Given the description of an element on the screen output the (x, y) to click on. 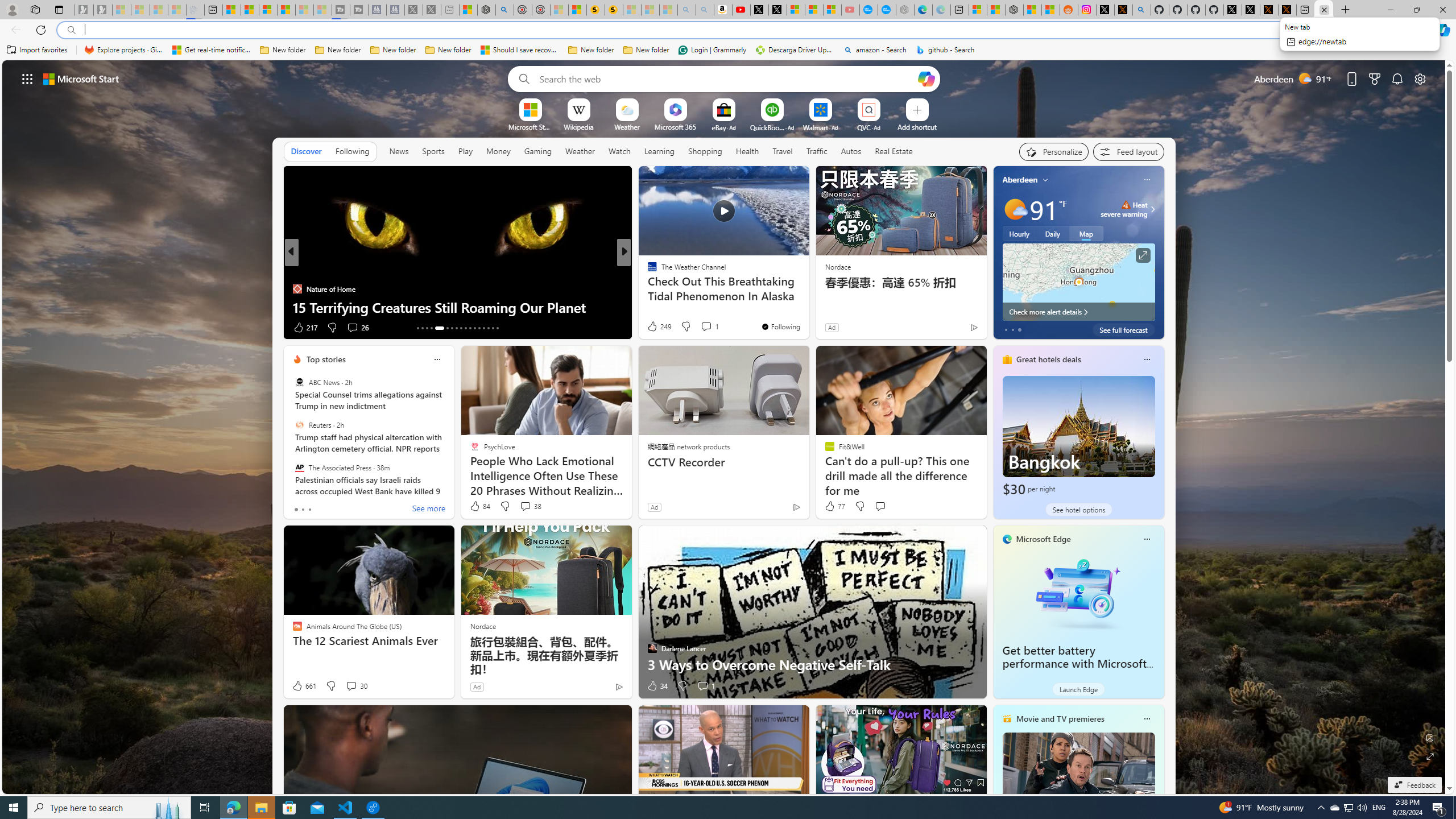
View comments 1 Comment (703, 685)
Scripps News (647, 270)
View comments 38 Comment (530, 505)
Daily (1052, 233)
AutomationID: tab-19 (451, 328)
661 Like (303, 685)
AutomationID: tab-16 (431, 328)
Reuters (299, 424)
Launch Edge (1078, 689)
Search icon (70, 29)
AutomationID: tab-29 (497, 328)
My location (1045, 179)
